Given the description of an element on the screen output the (x, y) to click on. 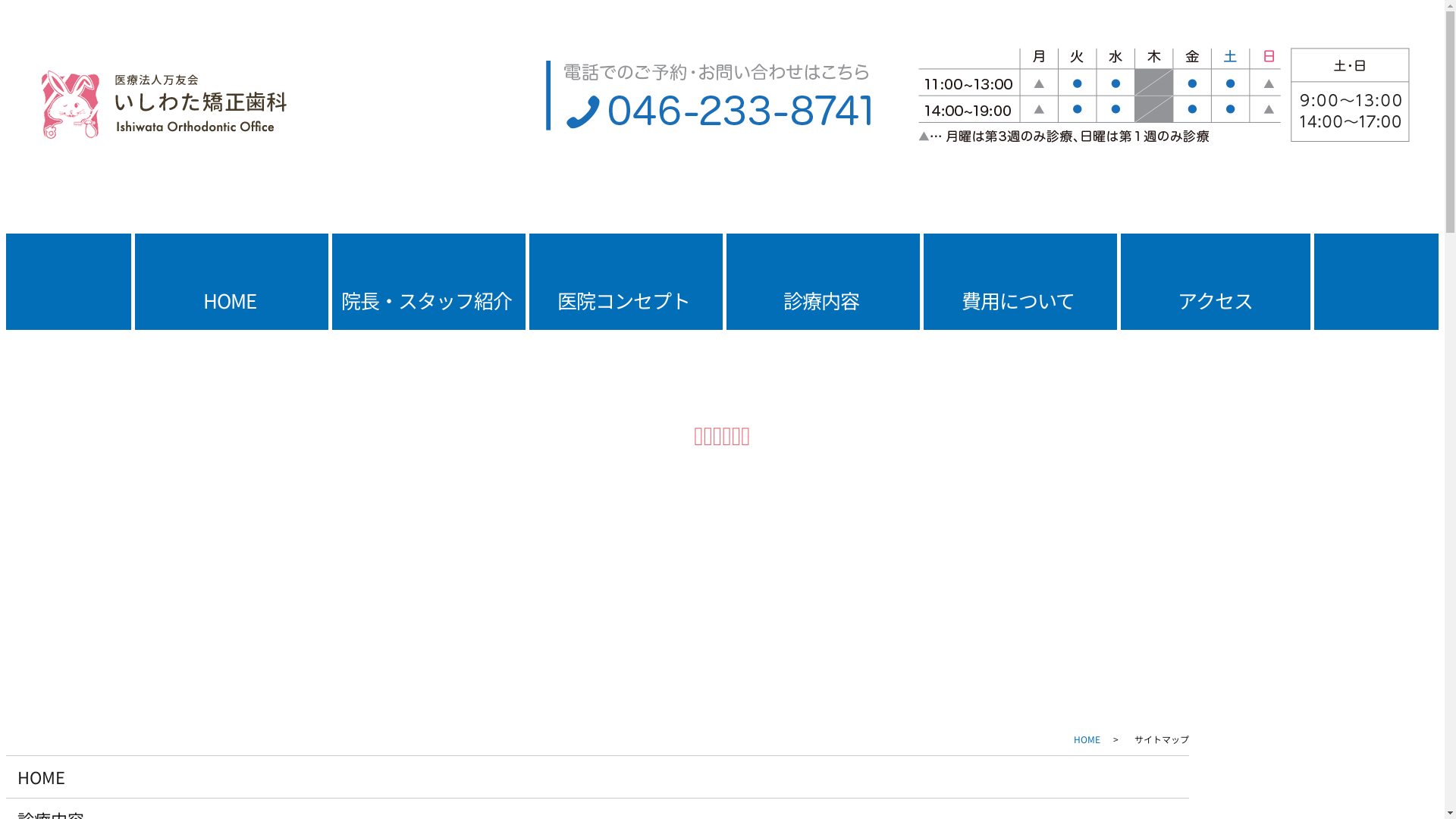
HOME Element type: text (228, 281)
HOME Element type: text (1086, 738)
HOME Element type: text (41, 776)
